Given the description of an element on the screen output the (x, y) to click on. 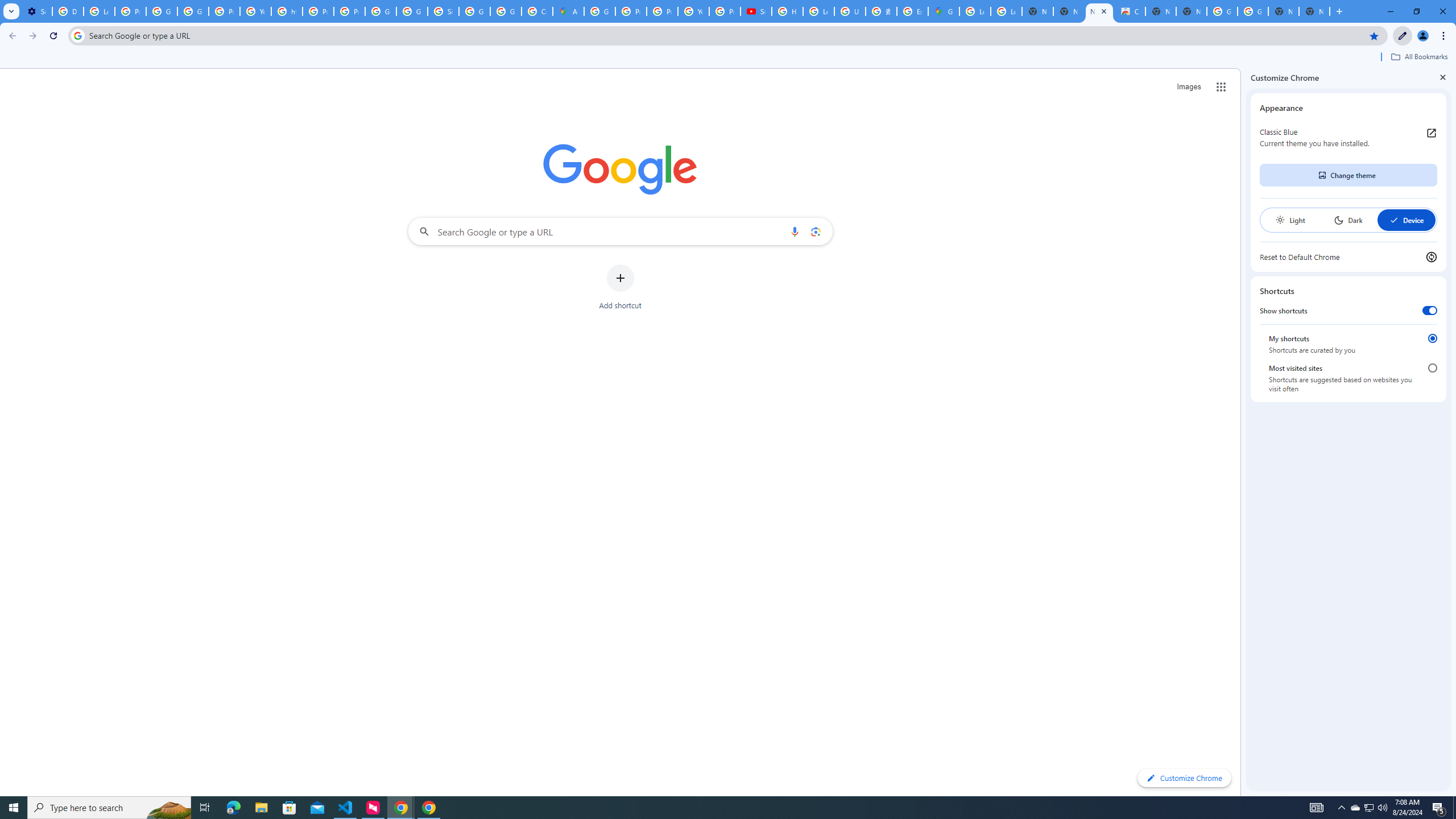
Google Account Help (161, 11)
Privacy Help Center - Policies Help (318, 11)
New Tab (1314, 11)
Classic Blue Current theme you have installed. (1347, 137)
Show shortcuts (1429, 310)
Light (1289, 219)
